Given the description of an element on the screen output the (x, y) to click on. 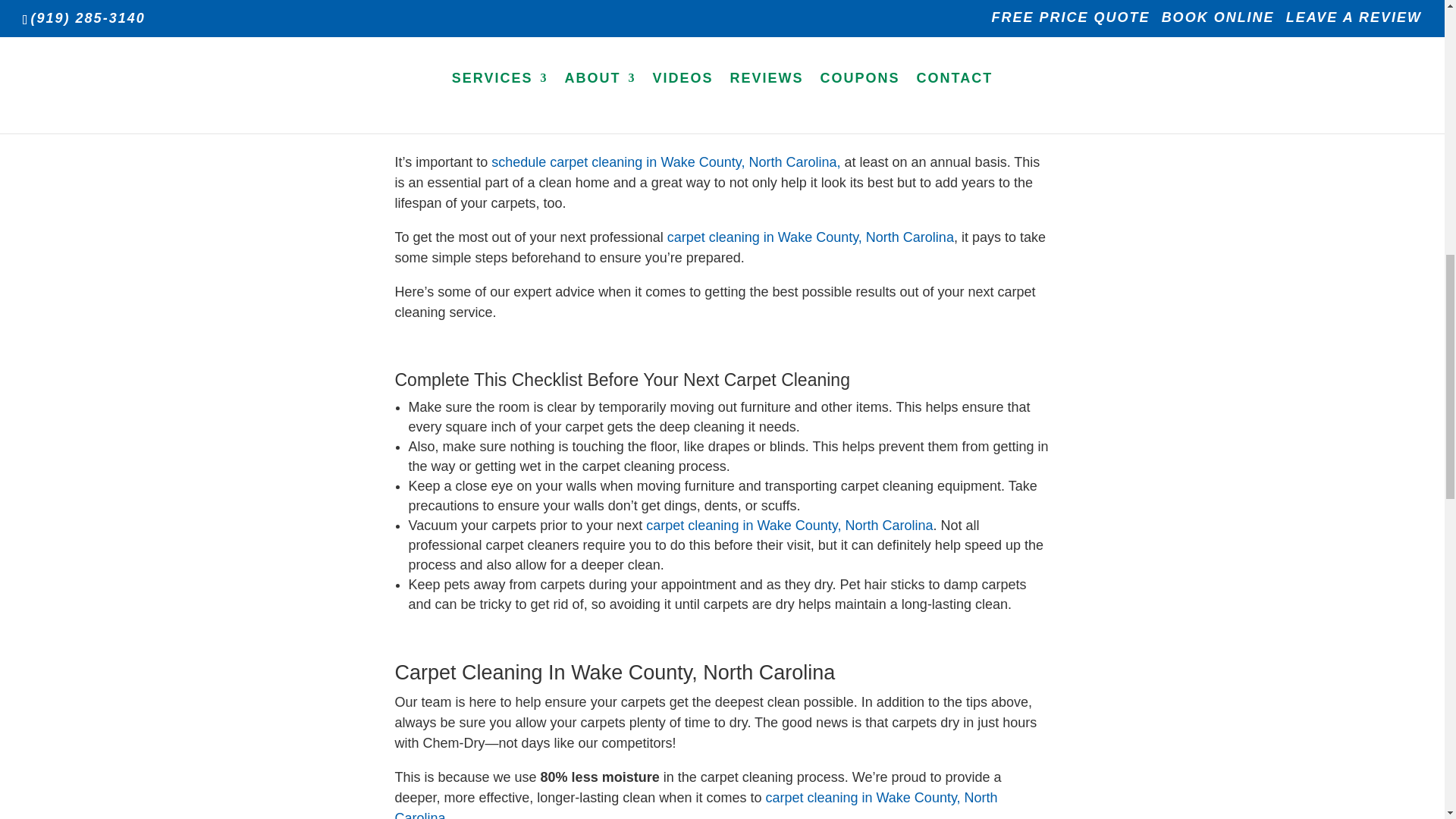
carpet-cleaners-wake-forest-nc (722, 24)
carpet cleaning in Wake County, North Carolina (789, 525)
carpet cleaning in Wake County, North Carolina (695, 804)
carpet cleaning in Wake County, North Carolina (809, 237)
schedule carpet cleaning in Wake County, North Carolina, (666, 161)
